Given the description of an element on the screen output the (x, y) to click on. 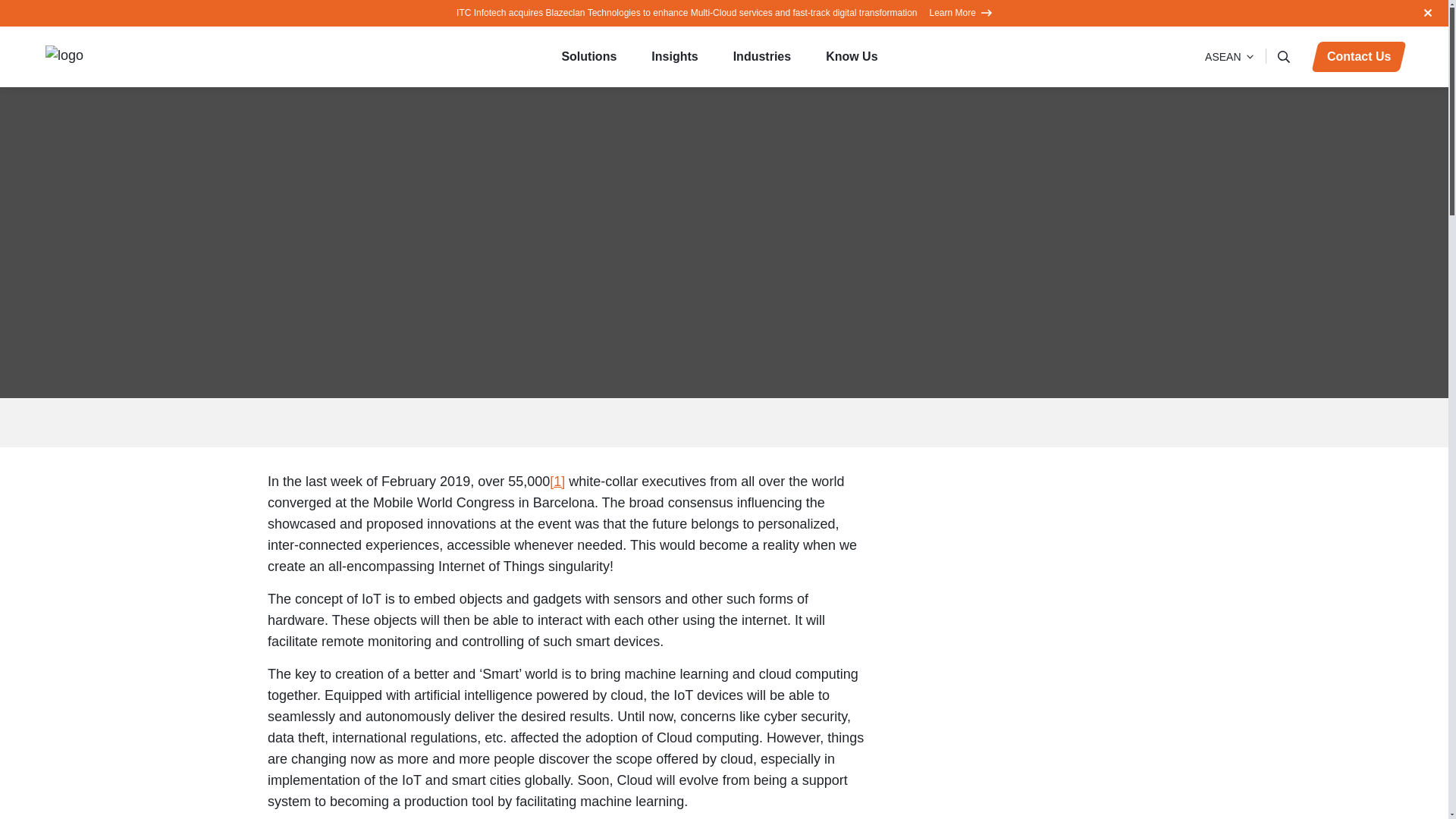
language (1228, 56)
Solutions (592, 56)
Insights (678, 56)
search (1284, 55)
Learn More (960, 12)
